Given the description of an element on the screen output the (x, y) to click on. 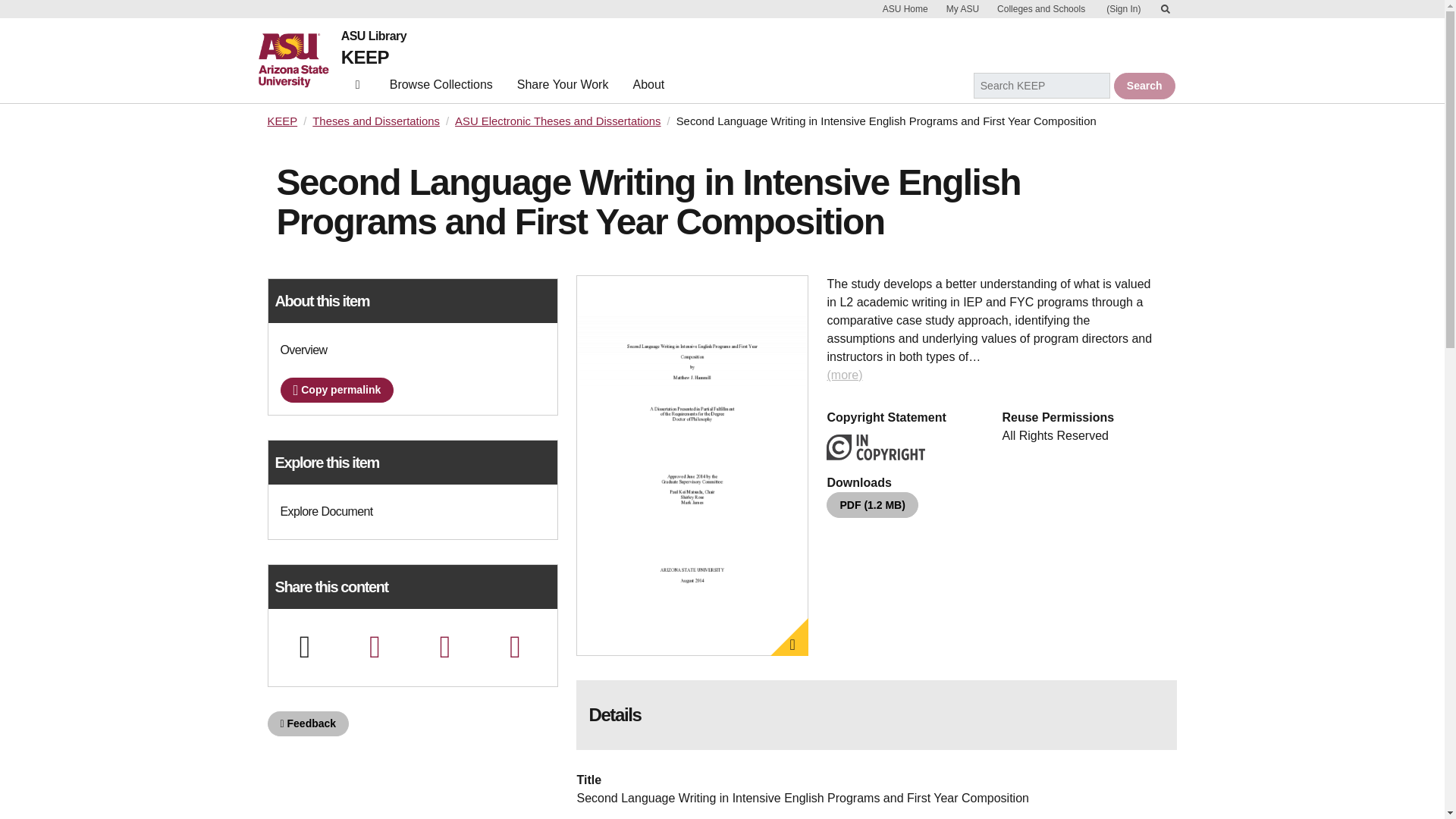
ASU Home (905, 8)
Search (1143, 85)
Email this (373, 646)
Browse Collections (441, 87)
ASU Home (905, 8)
Print this (303, 646)
Screen reader link to the content (1164, 8)
Skip to Content (1164, 8)
My ASU (962, 8)
My ASU (962, 8)
Share Your Work (562, 87)
Home (298, 60)
About (647, 87)
KEEP (281, 121)
Search (1143, 85)
